Given the description of an element on the screen output the (x, y) to click on. 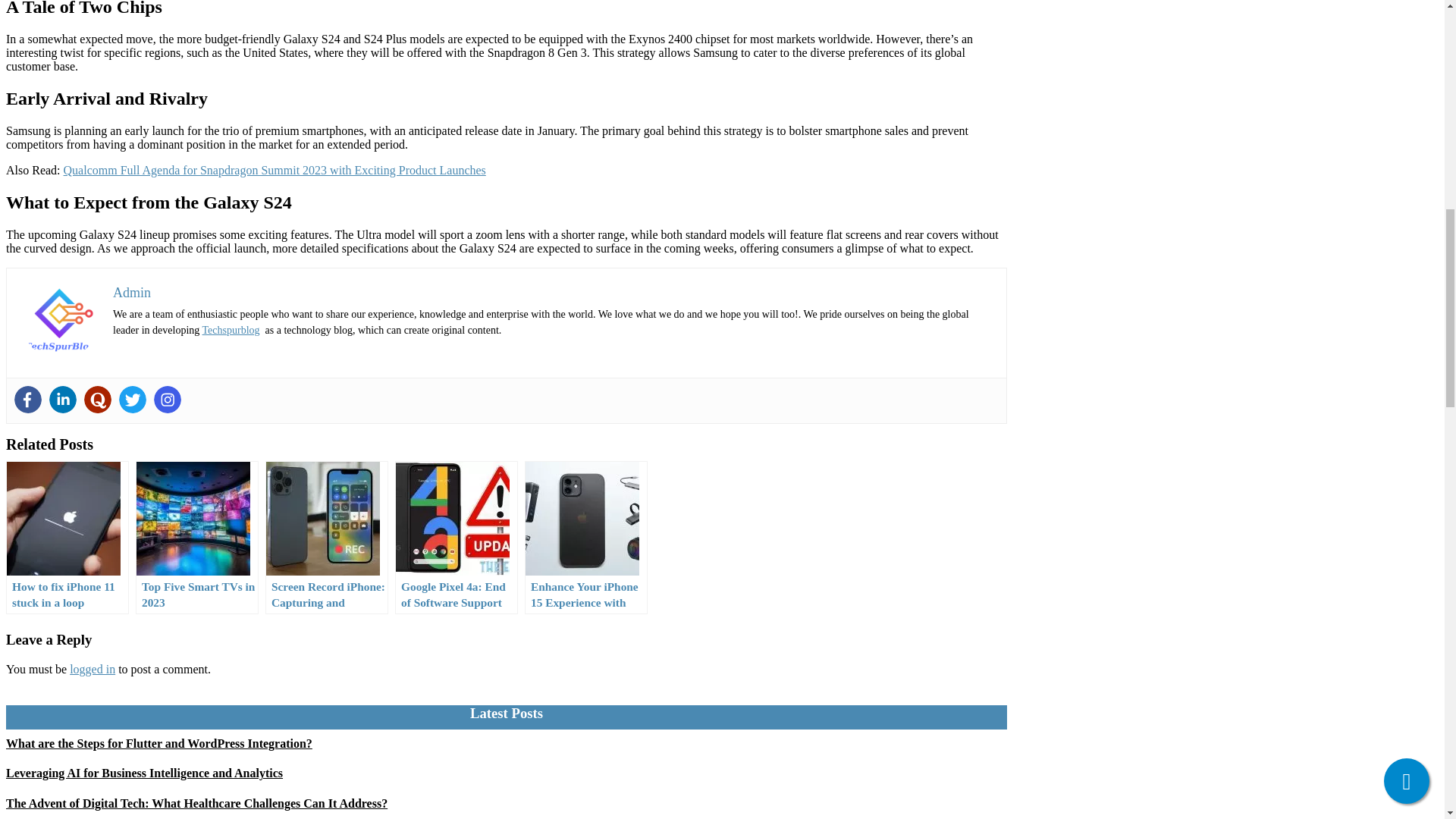
Quora (98, 398)
Linkedin (63, 398)
Instagram (167, 398)
Techspurblog (231, 329)
Facebook (28, 398)
Twitter (133, 398)
Admin (132, 292)
